Given the description of an element on the screen output the (x, y) to click on. 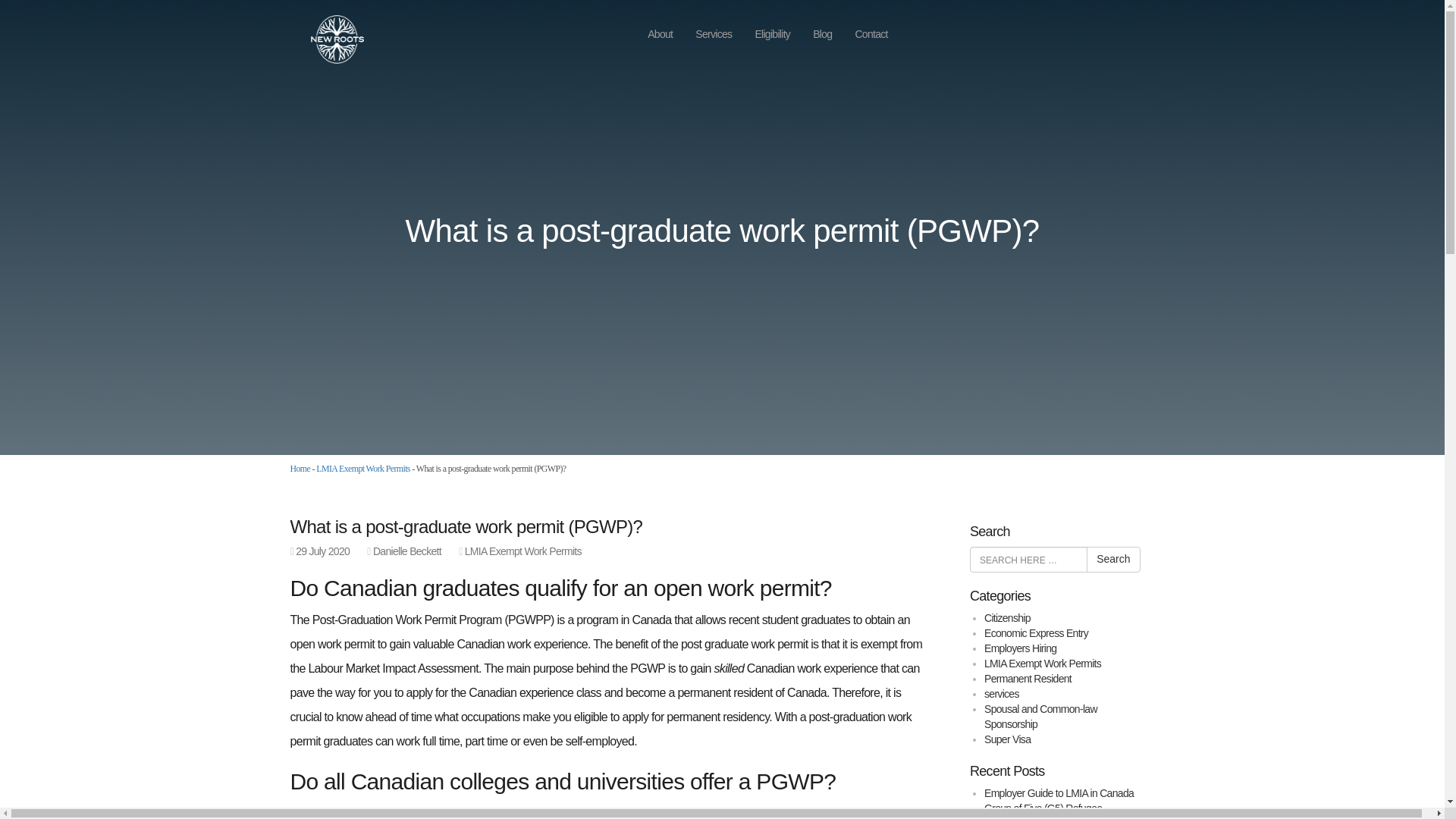
29 July 2020 (322, 551)
Danielle Beckett (406, 551)
LMIA Exempt Work Permits (1042, 663)
Blog (822, 34)
Contact (870, 34)
Eligibility (772, 34)
Spousal and Common-law Sponsorship (1040, 716)
Home (299, 468)
LMIA Exempt Work Permits (362, 468)
NewRoots (329, 37)
Economic Express Entry (1035, 633)
Employer Guide to LMIA in Canada (1059, 793)
LMIA Exempt Work Permits (522, 551)
Employers Hiring (1020, 648)
About (660, 34)
